Given the description of an element on the screen output the (x, y) to click on. 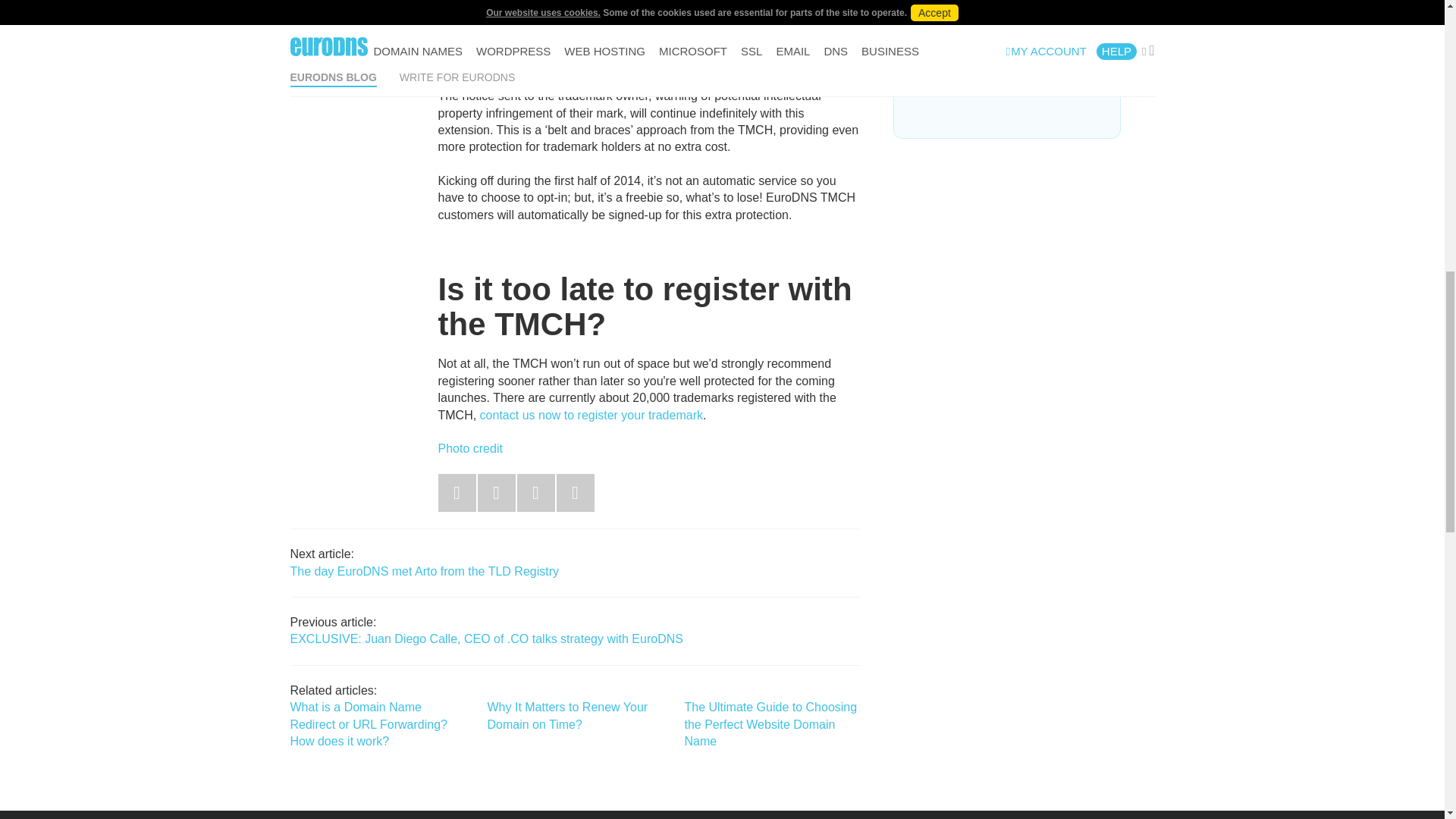
contact us now to register your trademark (591, 414)
EuroDNS - registration with the TMCH (591, 414)
